Given the description of an element on the screen output the (x, y) to click on. 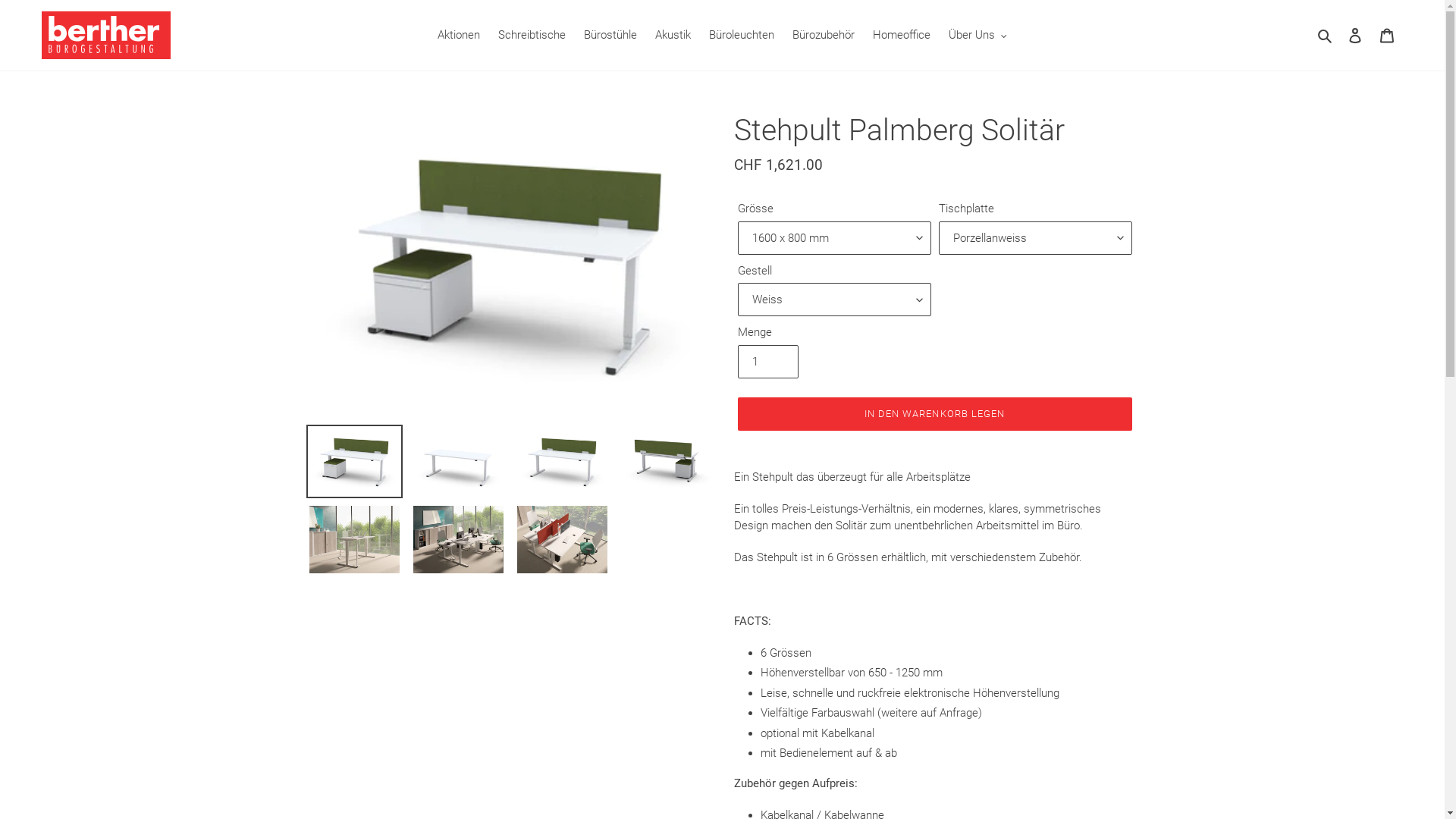
Einloggen Element type: text (1355, 34)
Homeoffice Element type: text (901, 35)
Schreibtische Element type: text (531, 35)
Suchen Element type: text (1325, 34)
IN DEN WARENKORB LEGEN Element type: text (934, 413)
Warenkorb Element type: text (1386, 34)
Akustik Element type: text (672, 35)
Aktionen Element type: text (458, 35)
